Given the description of an element on the screen output the (x, y) to click on. 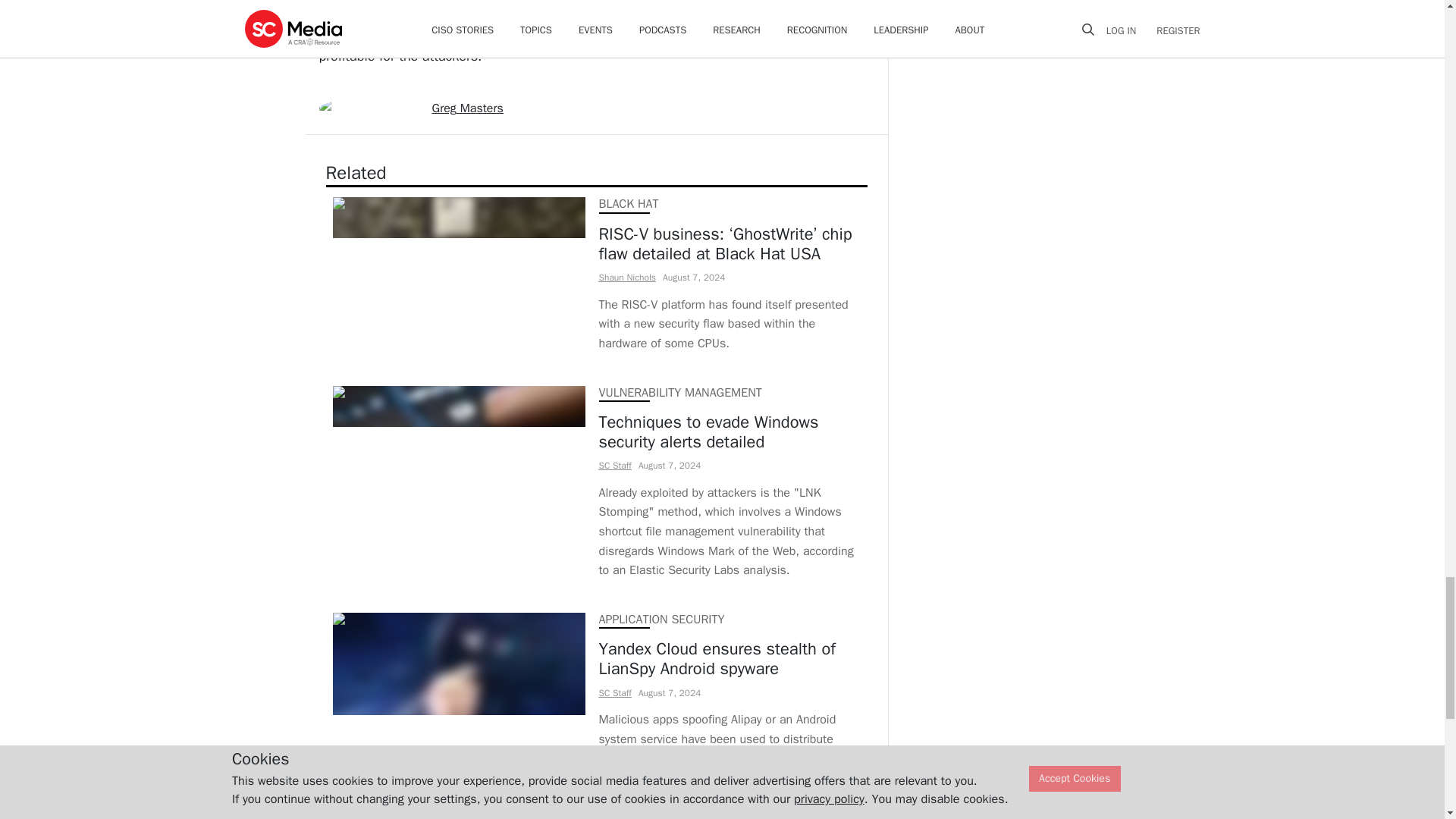
APPLICATION SECURITY (661, 619)
Yandex Cloud ensures stealth of LianSpy Android spyware (729, 659)
BLACK HAT (628, 203)
SC Staff (614, 693)
Techniques to evade Windows security alerts detailed (729, 432)
SC Staff (614, 465)
Shaun Nichols (627, 277)
Greg Masters (467, 108)
VULNERABILITY MANAGEMENT (679, 392)
